Given the description of an element on the screen output the (x, y) to click on. 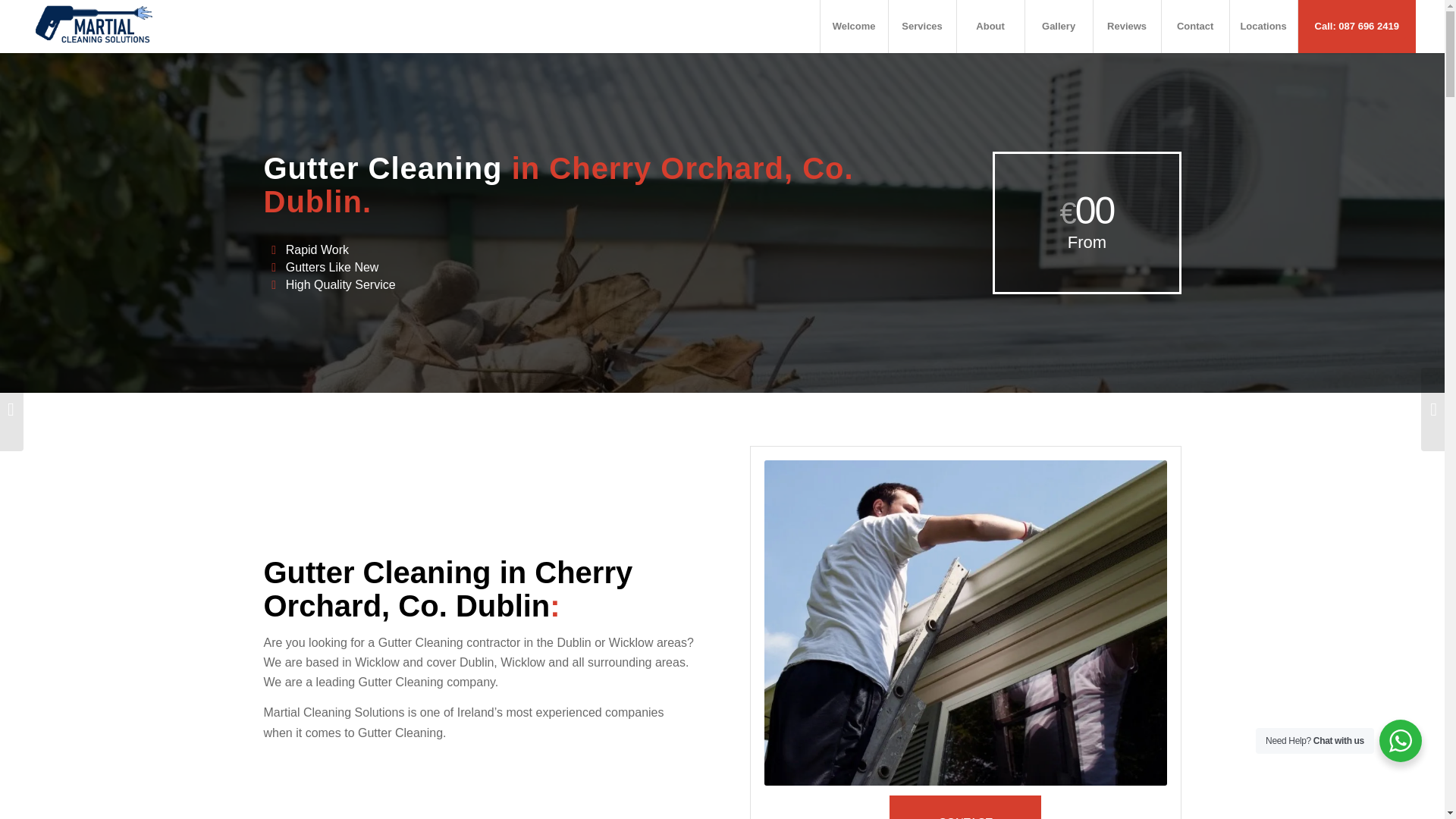
Reviews (1126, 26)
Martial Cleaning Solutions  Wicklow (965, 623)
Martial Cleaning Solutions  Wicklow (93, 26)
Services (922, 26)
CONTACT (965, 807)
Locations (1262, 26)
Contact (1194, 26)
Welcome (853, 26)
About (990, 26)
Gallery (1059, 26)
Call: 087 696 2419 (1356, 26)
